Given the description of an element on the screen output the (x, y) to click on. 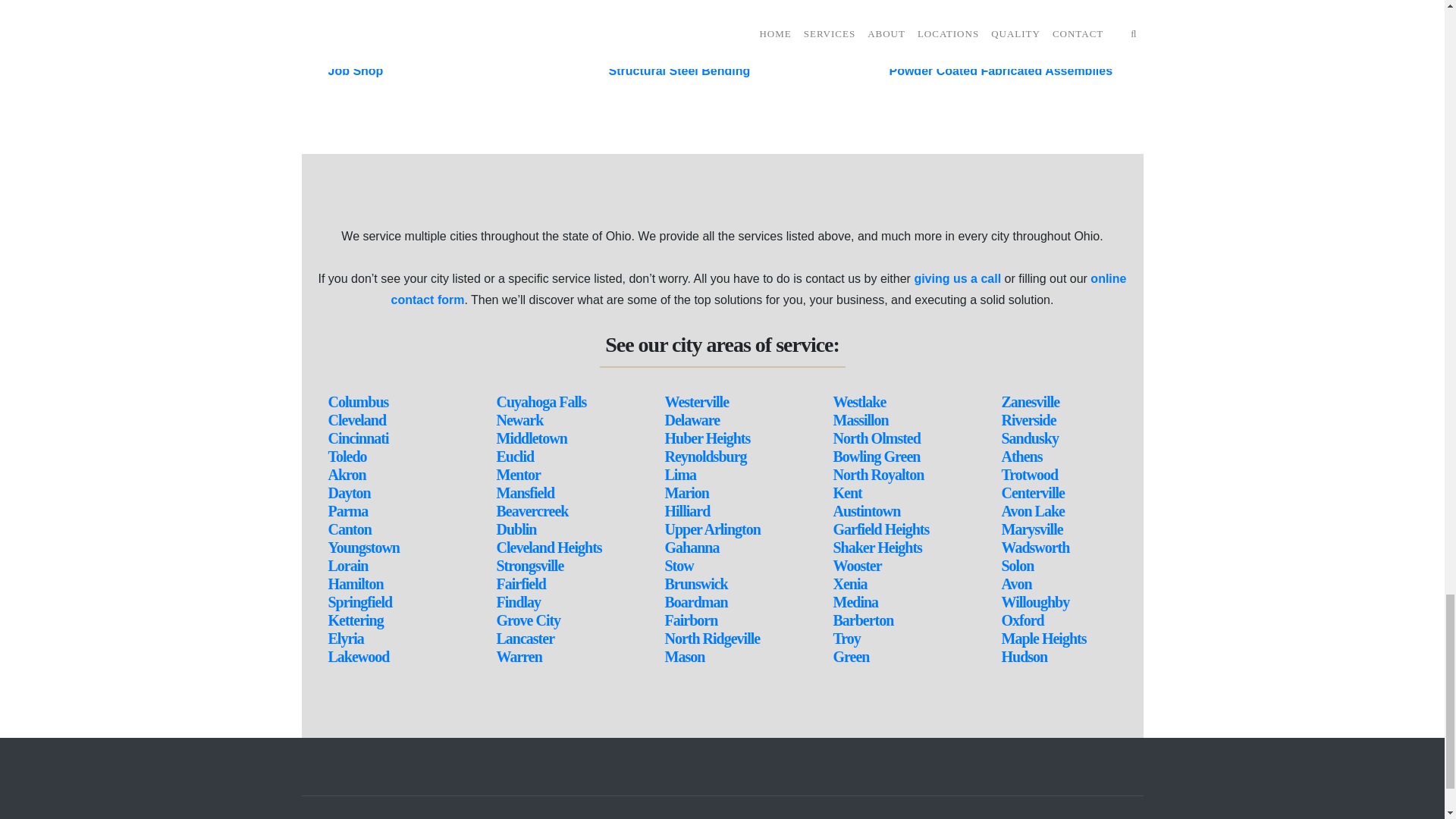
Contract Manufacturing (395, 49)
Fabricated Materials (386, 28)
Job Shop (354, 70)
Structural Steel Bending (678, 70)
Steel Bending (648, 49)
Press Brake Machine (669, 6)
Sheet Metal Bending (667, 28)
Powder Coating (373, 6)
